Given the description of an element on the screen output the (x, y) to click on. 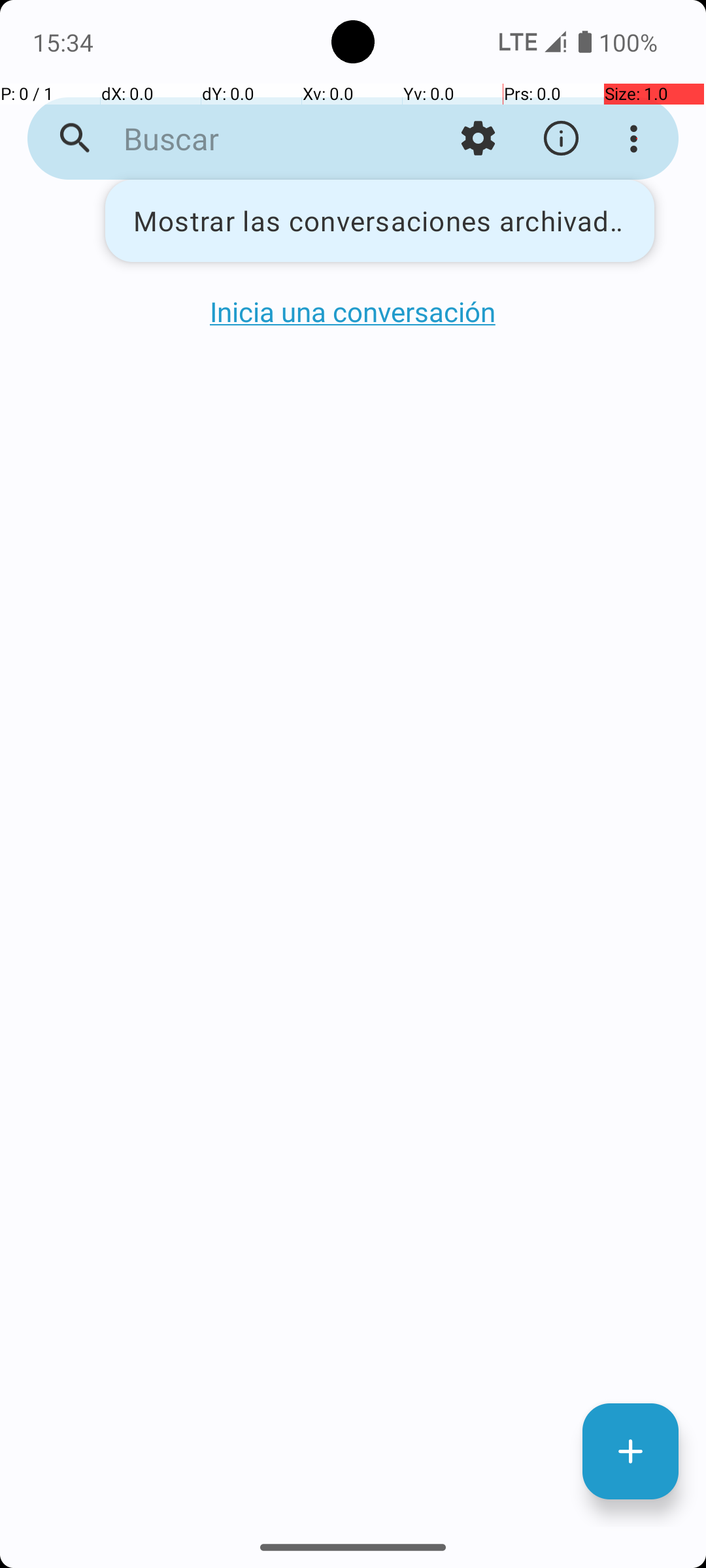
Mostrar las conversaciones archivadas Element type: android.widget.TextView (379, 220)
